Given the description of an element on the screen output the (x, y) to click on. 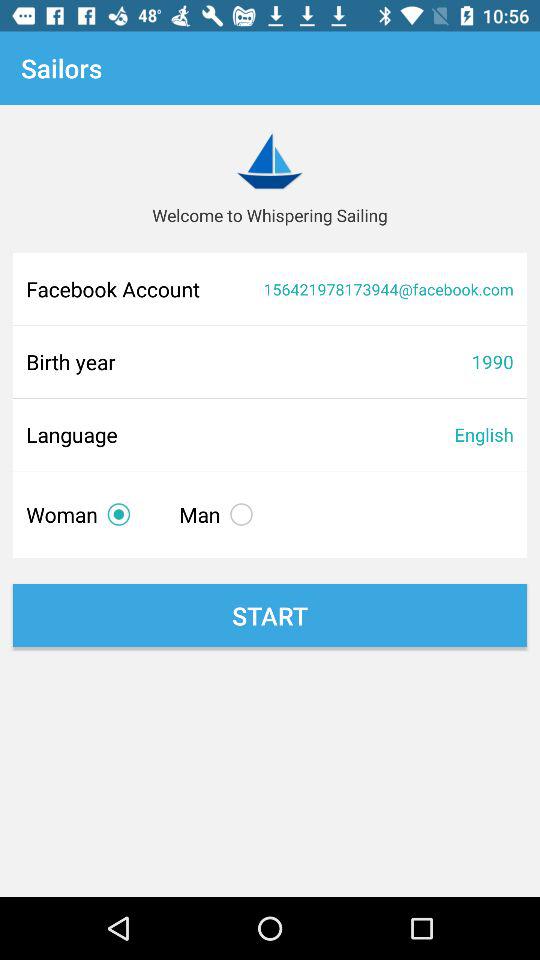
turn off the icon above the start icon (220, 514)
